Given the description of an element on the screen output the (x, y) to click on. 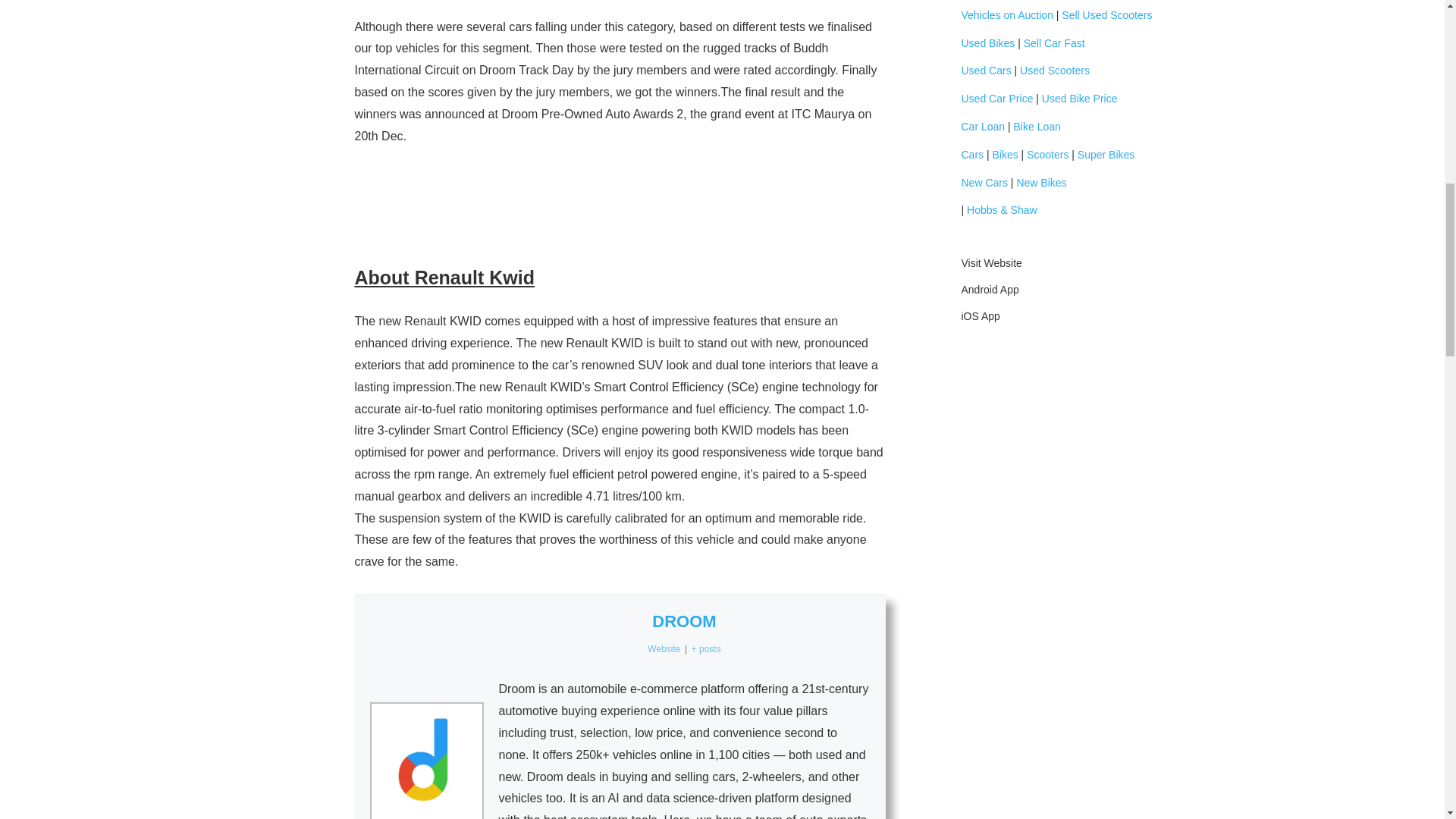
Car Auction Online (1006, 15)
Sell Used Scooters (1106, 15)
Website (663, 648)
DROOM (684, 620)
